Given the description of an element on the screen output the (x, y) to click on. 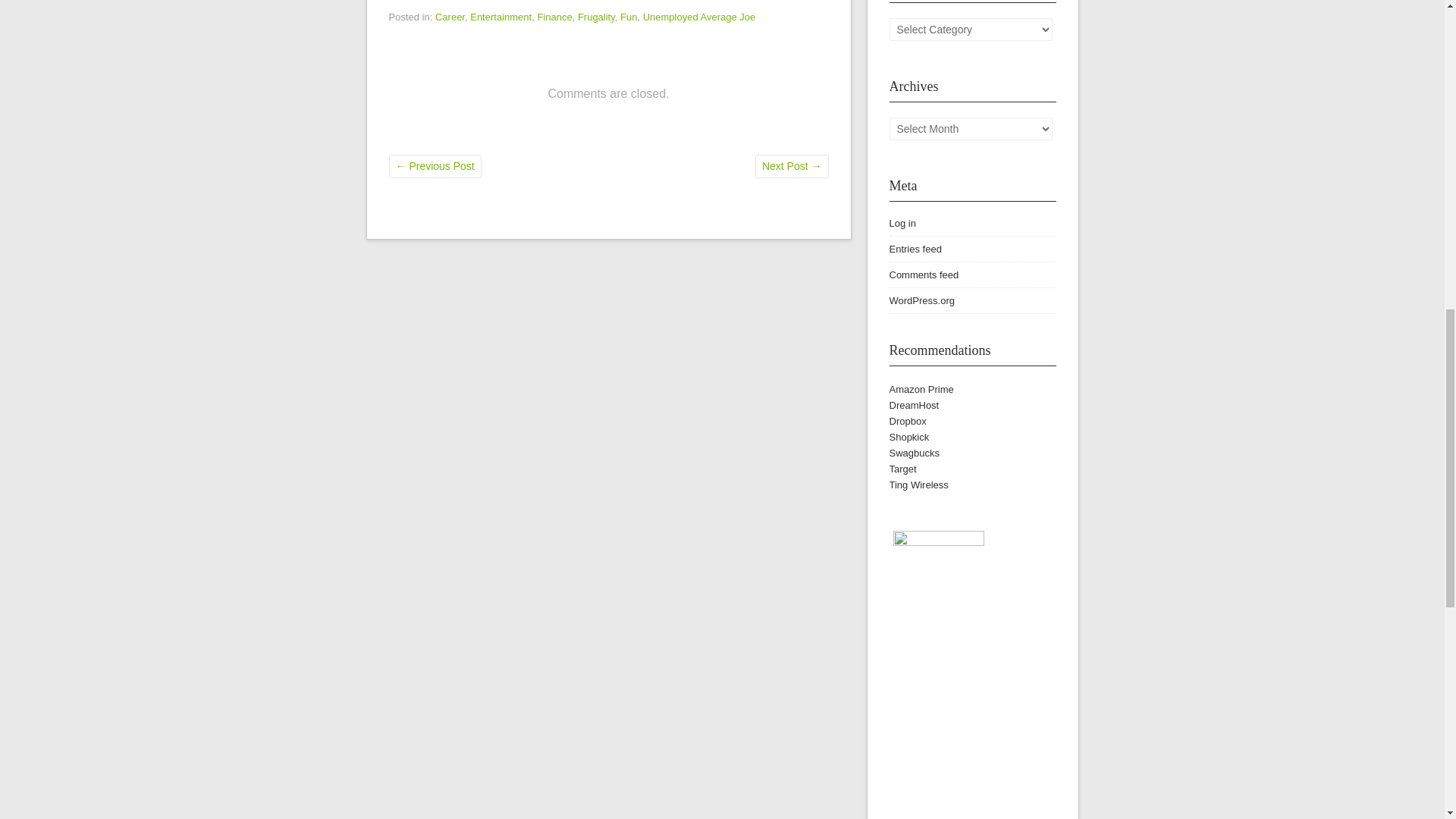
Career (449, 16)
Frugality (596, 16)
WordPress.org (920, 300)
Fun (628, 16)
Comments feed (923, 274)
Unemployed Average Joe (699, 16)
Entries feed (914, 248)
Amazon Prime (920, 389)
DreamHost (913, 405)
Finance (554, 16)
Entertainment (500, 16)
Log in (901, 223)
